Given the description of an element on the screen output the (x, y) to click on. 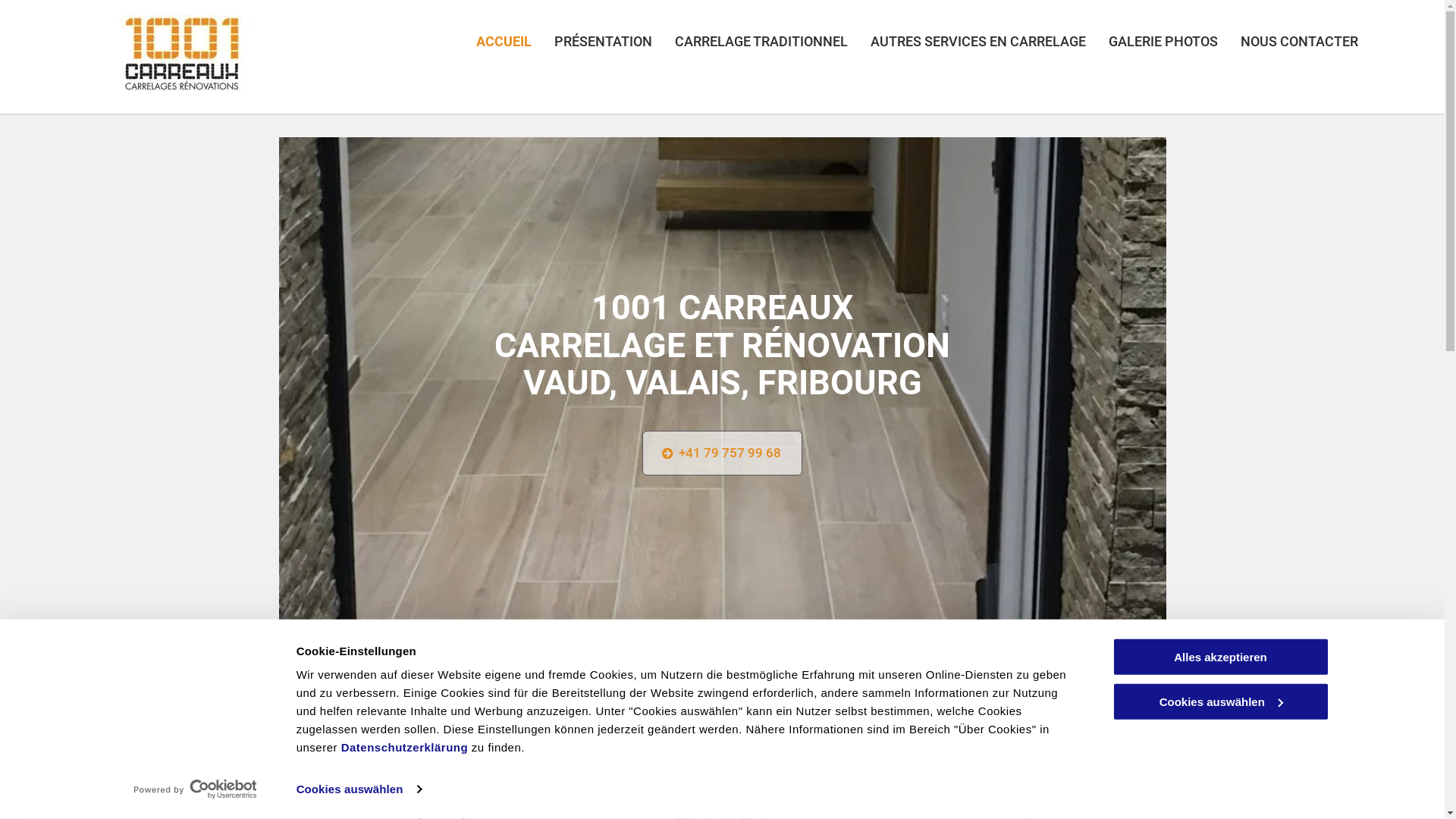
GALERIE PHOTOS Element type: text (1151, 42)
AUTRES SERVICES EN CARRELAGE Element type: text (966, 42)
ACCUEIL Element type: text (492, 42)
+41 79 757 99 68 Element type: text (722, 452)
Alles akzeptieren Element type: text (1219, 656)
CARRELAGE TRADITIONNEL Element type: text (749, 42)
NOUS CONTACTER Element type: text (1287, 42)
